Given the description of an element on the screen output the (x, y) to click on. 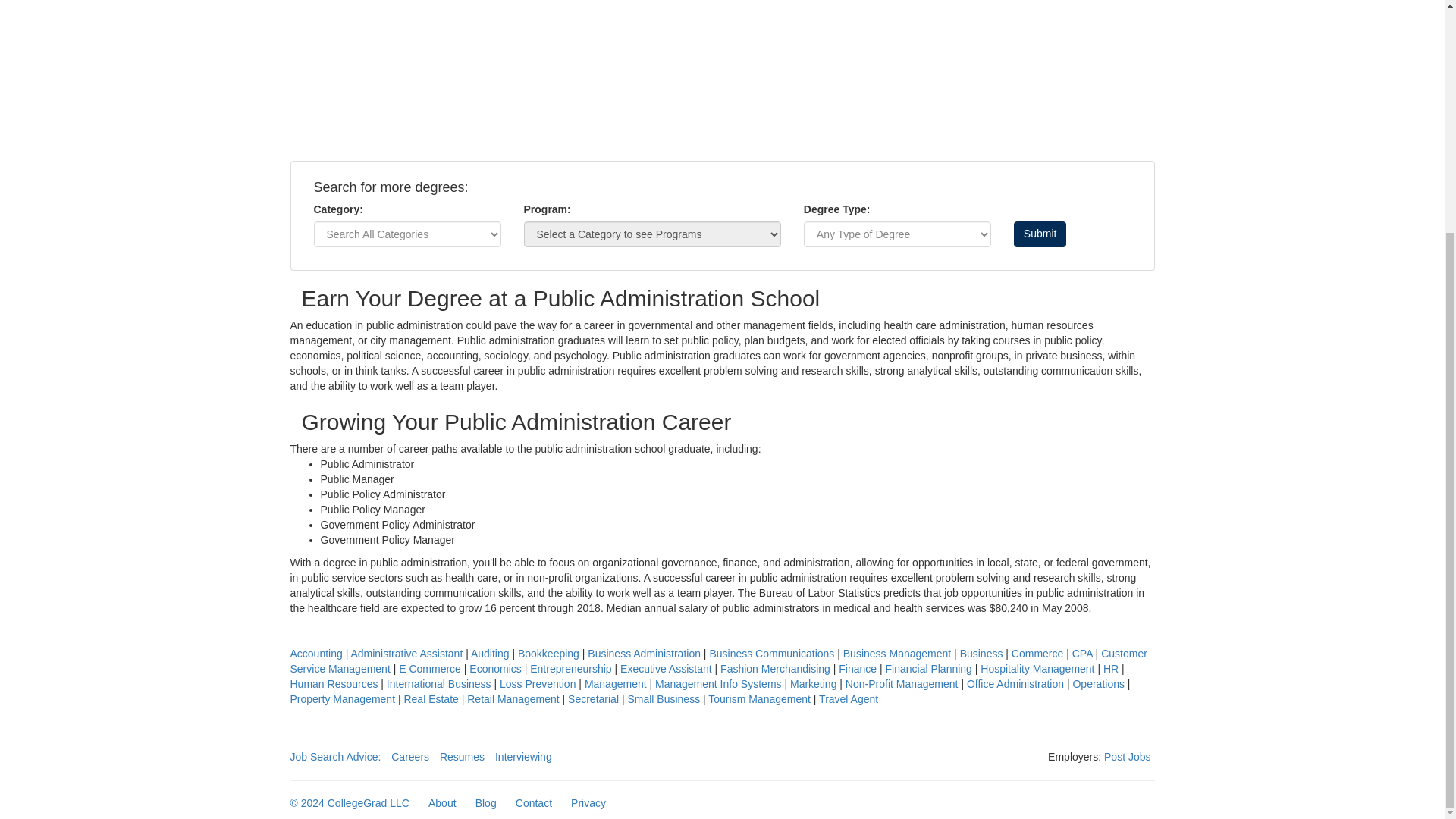
CPA (1082, 653)
Finance (857, 668)
International Business (439, 684)
Business Communications (771, 653)
Bookkeeping (548, 653)
Financial Planning (928, 668)
Accounting (315, 653)
Management Info Systems (718, 684)
Submit (1040, 234)
Business (981, 653)
